Given the description of an element on the screen output the (x, y) to click on. 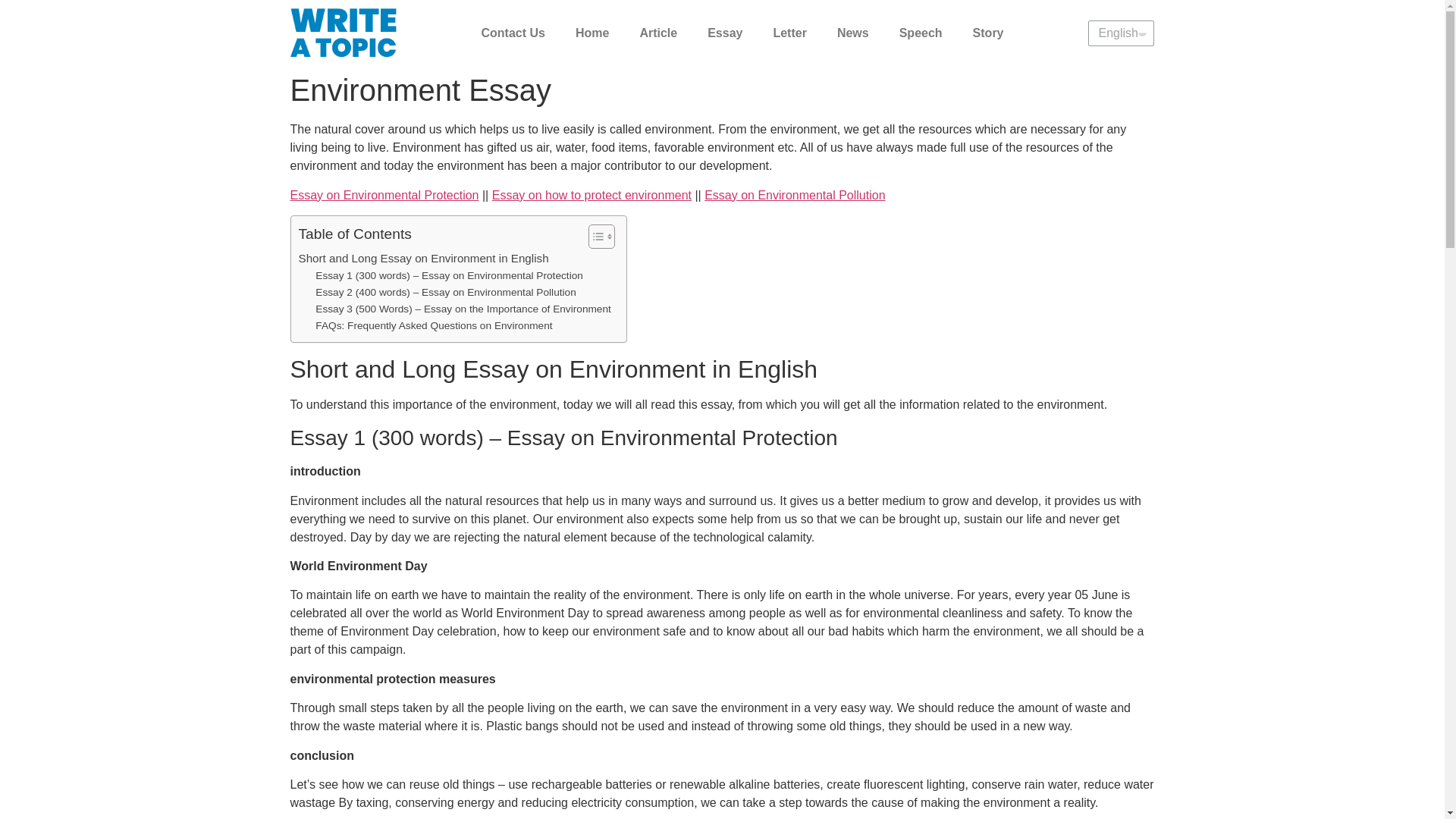
Story (988, 32)
Letter (789, 32)
Contact Us (512, 32)
Article (658, 32)
Essay on Environmental Pollution (794, 195)
Essay on how to protect environment (591, 195)
Essay on Environmental Protection (384, 195)
Home (592, 32)
Speech (920, 32)
News (852, 32)
Essay (725, 32)
Logo (342, 32)
Short and Long Essay on Environment in English (423, 258)
